Given the description of an element on the screen output the (x, y) to click on. 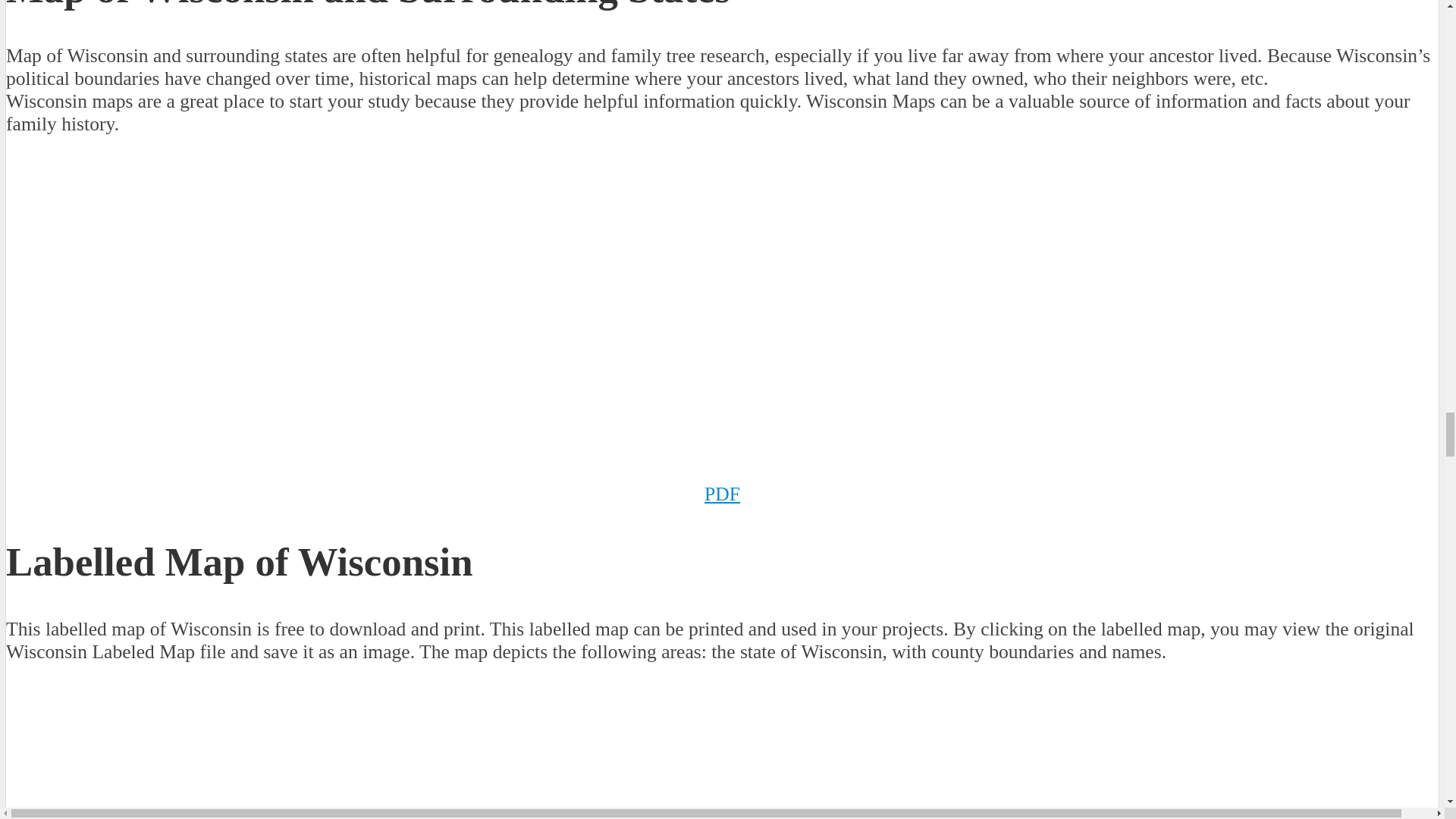
8 Free Printable Map of Wisconsin with Cities PDF Download 7 (308, 740)
